Given the description of an element on the screen output the (x, y) to click on. 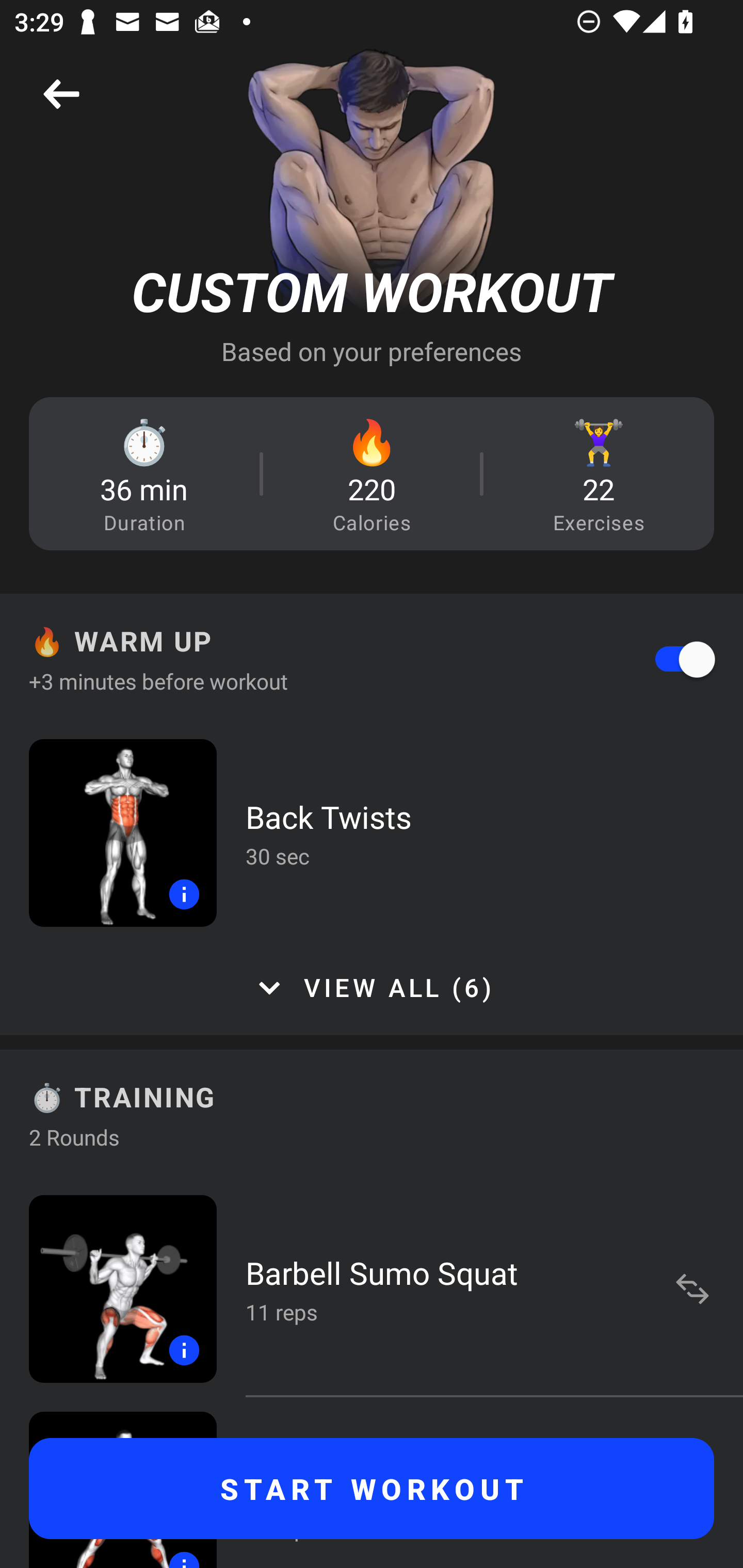
Back Twists 30 sec (371, 832)
VIEW ALL (6) (371, 987)
Barbell Sumo Squat 11 reps (371, 1288)
START WORKOUT (371, 1488)
